Given the description of an element on the screen output the (x, y) to click on. 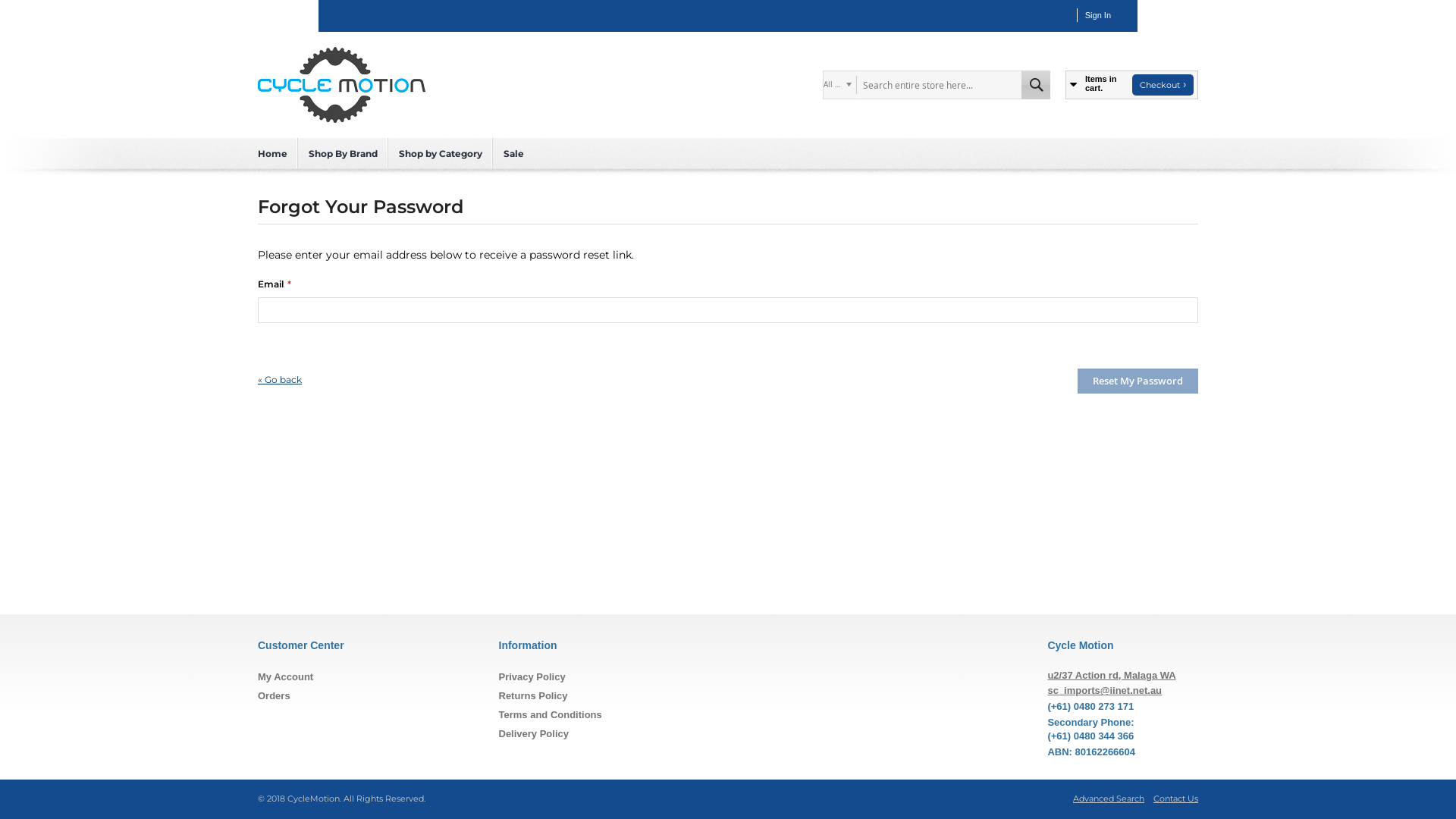
Sign In Element type: text (1097, 14)
Terms and Conditions Element type: text (550, 714)
Search Element type: text (1035, 84)
Delivery Policy Element type: text (533, 733)
Shop By Brand Element type: text (343, 153)
Shop by Category Element type: text (440, 153)
Privacy Policy Element type: text (531, 676)
Items in cart. Element type: text (1096, 84)
My Account Element type: text (285, 676)
Returns Policy Element type: text (532, 695)
Contact Us Element type: text (1175, 799)
Reset My Password Element type: text (1137, 380)
Orders Element type: text (273, 695)
Checkout Element type: text (1162, 84)
Go back Element type: text (279, 379)
sc_imports@iinet.net.au Element type: text (1104, 690)
Sale Element type: text (513, 153)
Advanced Search Element type: text (1108, 799)
Home Element type: text (272, 153)
u2/37 Action rd, Malaga WA Element type: text (1111, 674)
